Given the description of an element on the screen output the (x, y) to click on. 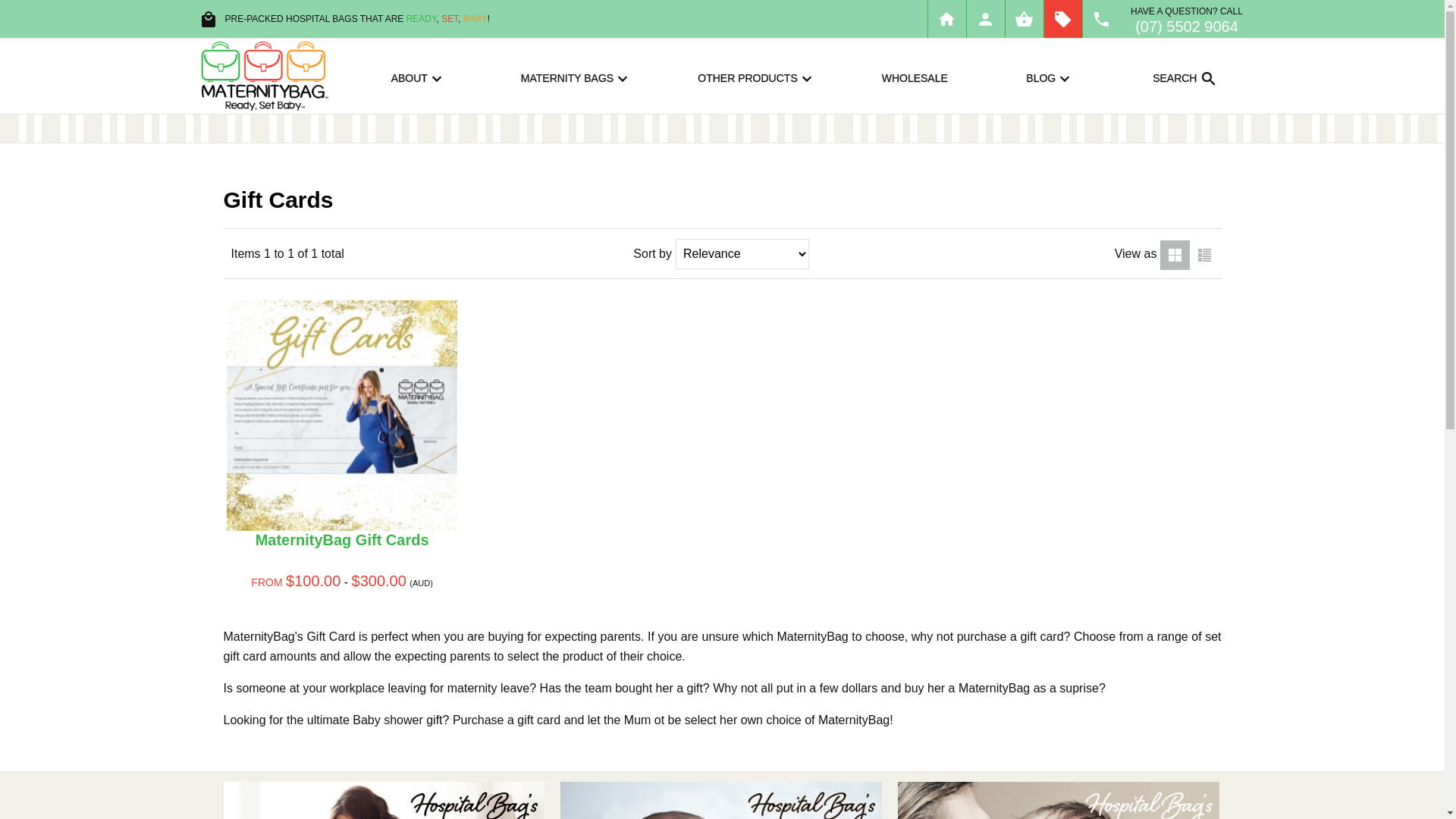
OTHER PRODUCTSexpand_more Element type: text (756, 78)
WHOLESALE Element type: text (914, 78)
phone Element type: text (1101, 18)
MATERNITY BAGSexpand_more Element type: text (576, 78)
MaternityBag Gift Cards Element type: text (342, 539)
person Element type: text (985, 18)
ABOUTexpand_more Element type: text (418, 78)
SEARCH search Element type: text (1185, 78)
shopping_basket Element type: text (1024, 18)
SEARCH Element type: text (1198, 131)
local_offer Element type: text (1062, 18)
home Element type: text (947, 18)
(07) 5502 9064 Element type: text (1186, 26)
BLOGexpand_more Element type: text (1050, 78)
